Given the description of an element on the screen output the (x, y) to click on. 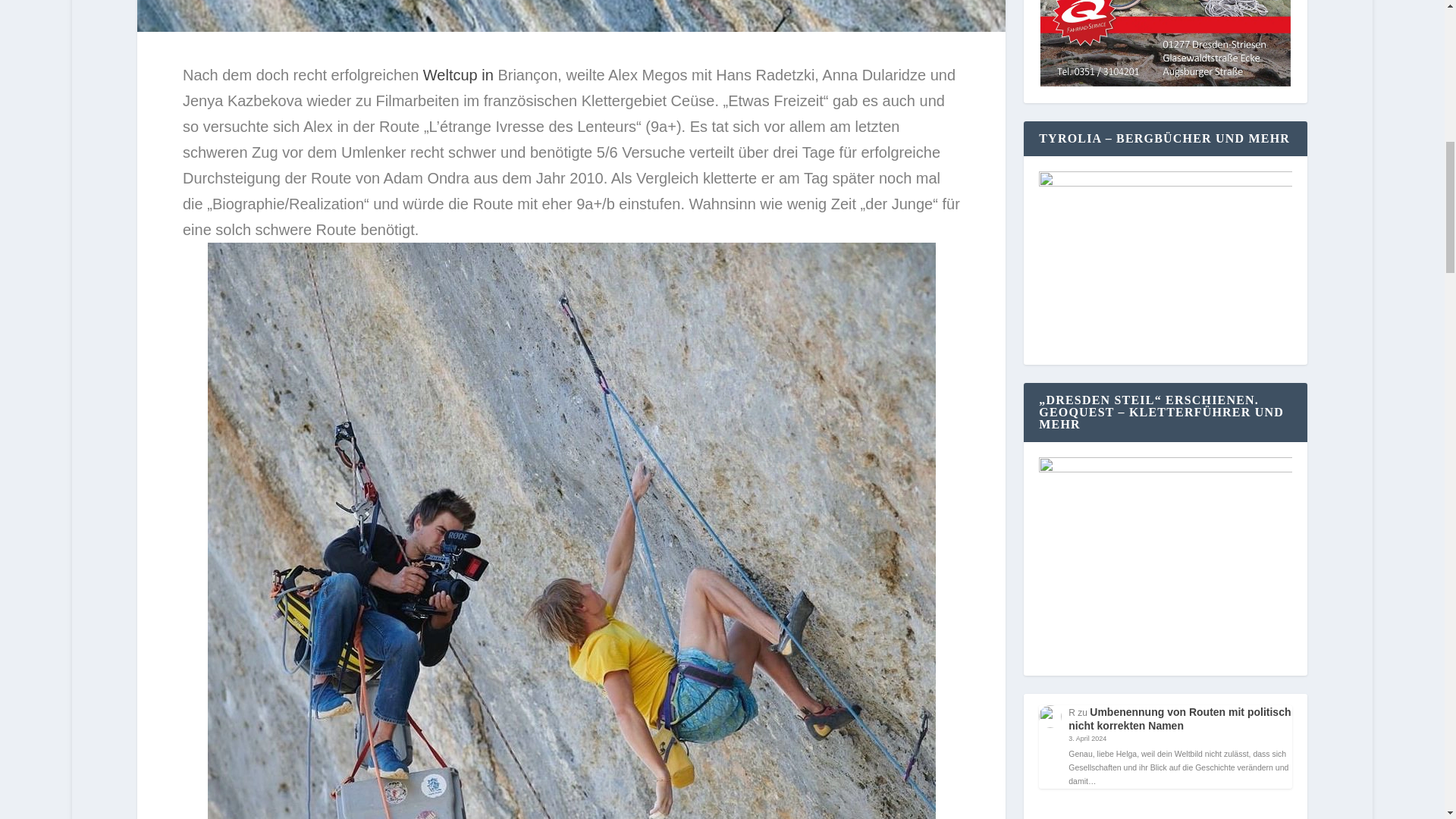
Weltcup in (460, 74)
Bearbeitet (571, 152)
